Given the description of an element on the screen output the (x, y) to click on. 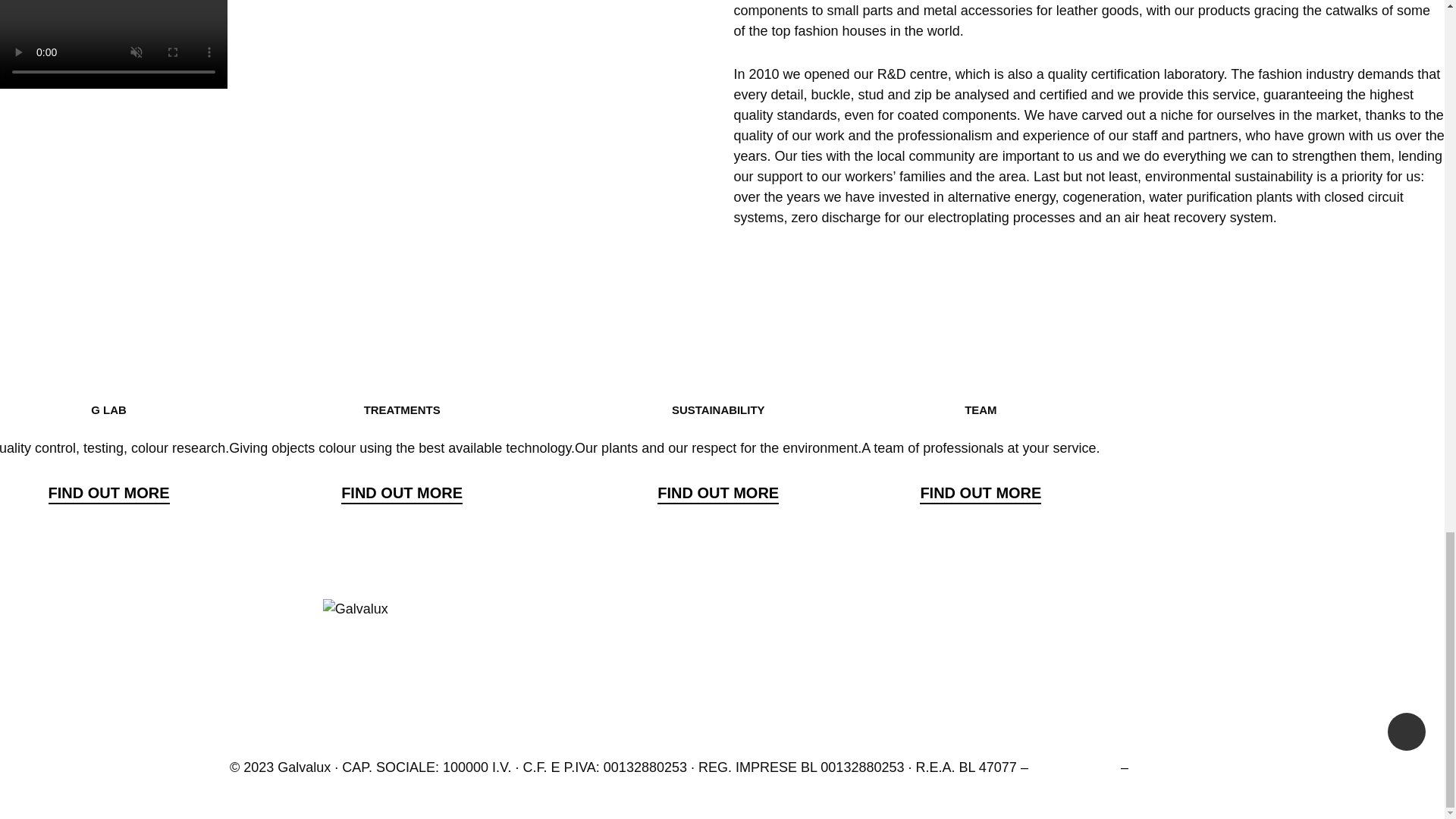
FIND OUT MORE (401, 494)
FIND OUT MORE (109, 494)
FIND OUT MORE (980, 494)
FIND OUT MORE (718, 494)
Cookie Policy (1173, 767)
Privacy Policy (1074, 767)
